Given the description of an element on the screen output the (x, y) to click on. 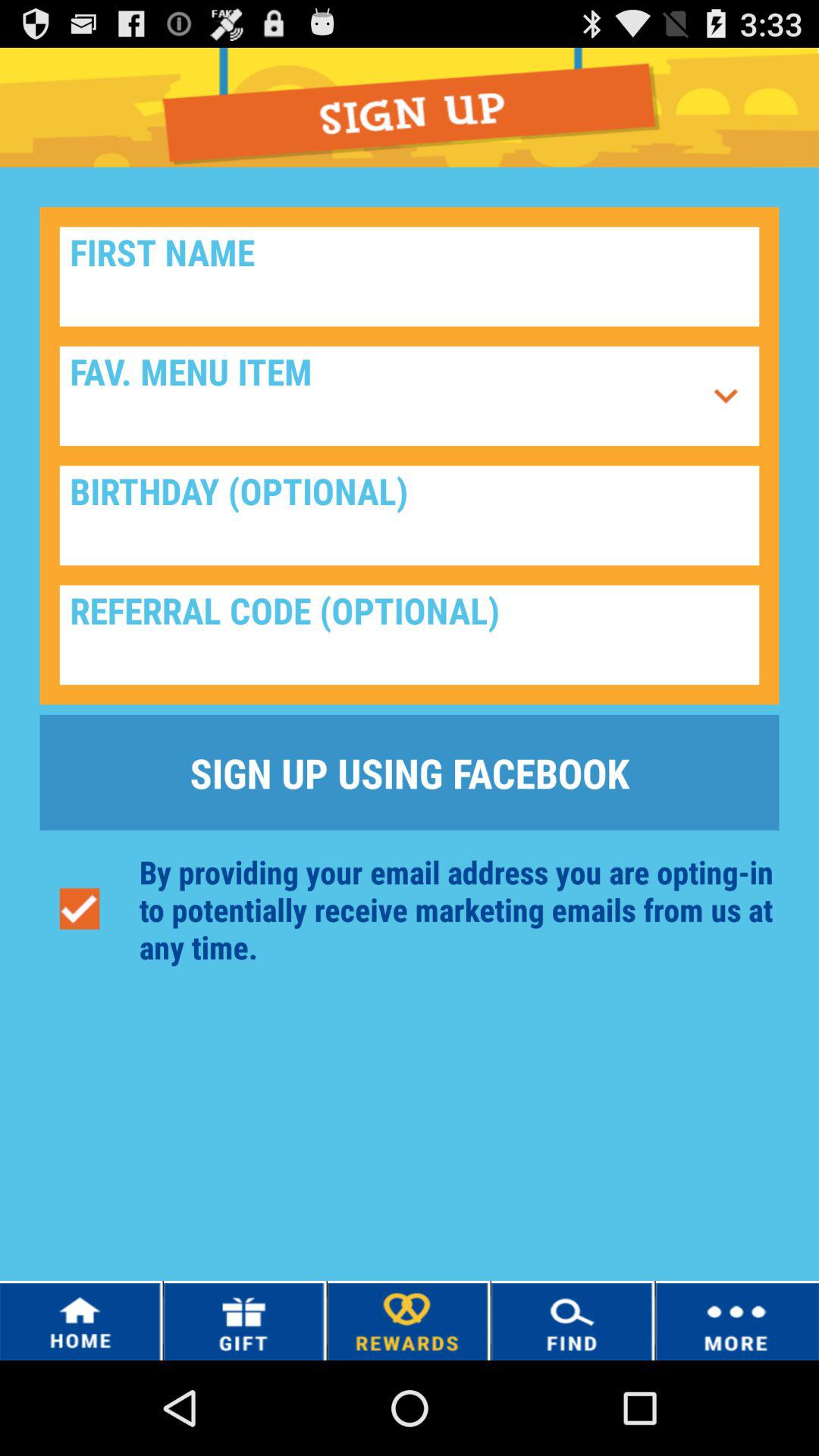
it is a menu icon used to select a favorite dish or anything (380, 395)
